Given the description of an element on the screen output the (x, y) to click on. 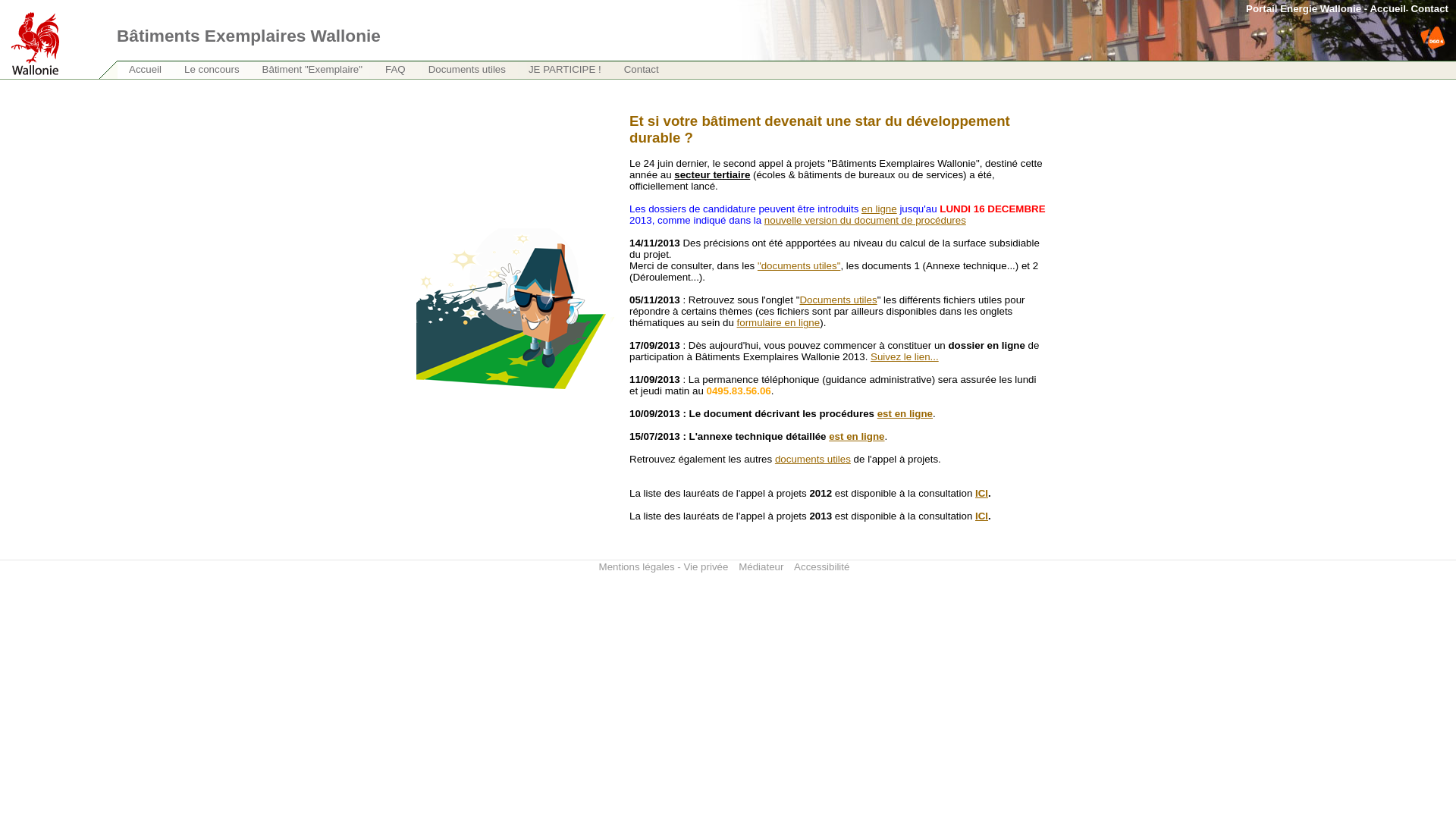
Documents utiles Element type: text (465, 81)
est en ligne Element type: text (856, 436)
Contact Element type: text (1429, 8)
ICI Element type: text (981, 515)
Wallonie.be Element type: hover (29, 27)
Suivez le lien... Element type: text (904, 356)
"documents utiles" Element type: text (798, 265)
ICI Element type: text (981, 492)
Documents utiles Element type: text (837, 299)
en ligne Element type: text (879, 208)
Portail Energie Wallonie Element type: text (1303, 8)
FAQ Element type: text (393, 81)
documents utiles Element type: text (812, 458)
est en ligne Element type: text (904, 413)
formulaire en ligne Element type: text (778, 322)
Le concours Element type: text (209, 81)
Accueil Element type: text (143, 81)
Contact Element type: text (639, 81)
Accueil Element type: text (1387, 8)
JE PARTICIPE ! Element type: text (562, 81)
